Given the description of an element on the screen output the (x, y) to click on. 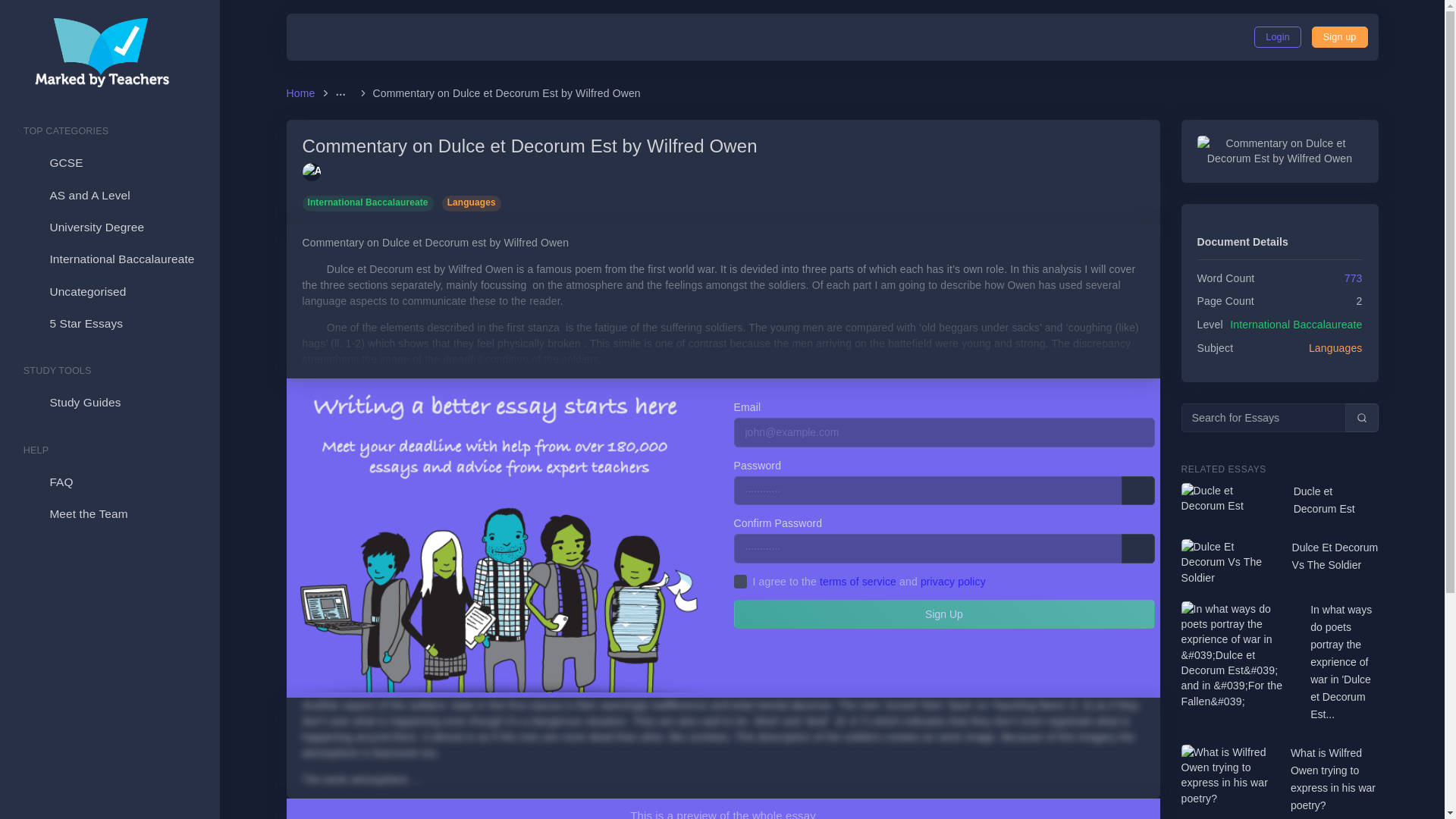
Home (302, 92)
Login (1277, 36)
Languages (471, 201)
Sign Up (1339, 36)
GCSE (109, 163)
What is Wilfred Owen trying to express in his war poetry? (1334, 779)
What is Wilfred Owen trying to express in his war poetry? (1334, 779)
International Baccalaureate (109, 259)
Study Guides (109, 402)
Meet the Team (109, 513)
AS and A Level (109, 195)
Dulce Et Decorum Vs The Soldier (1335, 556)
terms of service (857, 581)
5 Star Essays (109, 323)
University Degree (109, 227)
